Given the description of an element on the screen output the (x, y) to click on. 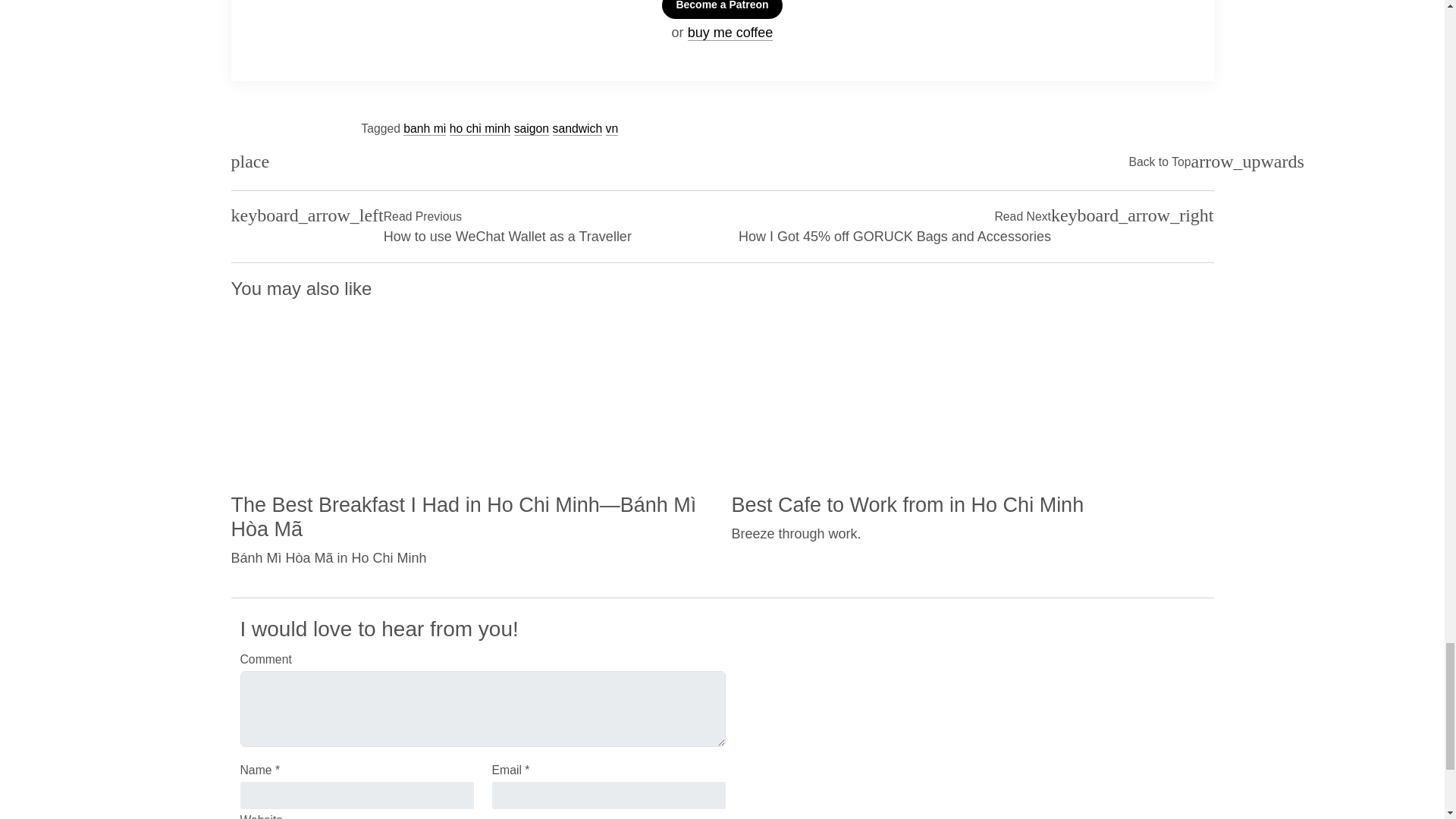
sandwich (576, 128)
ho chi minh (480, 128)
Best Cafe to Work from in Ho Chi Minh (906, 504)
How to use WeChat Wallet as a Traveller (507, 236)
Become a Patreon (722, 9)
vn (611, 128)
banh mi (424, 128)
buy me coffee (730, 32)
Become a Patreon (721, 9)
place (249, 162)
saigon (530, 128)
